Given the description of an element on the screen output the (x, y) to click on. 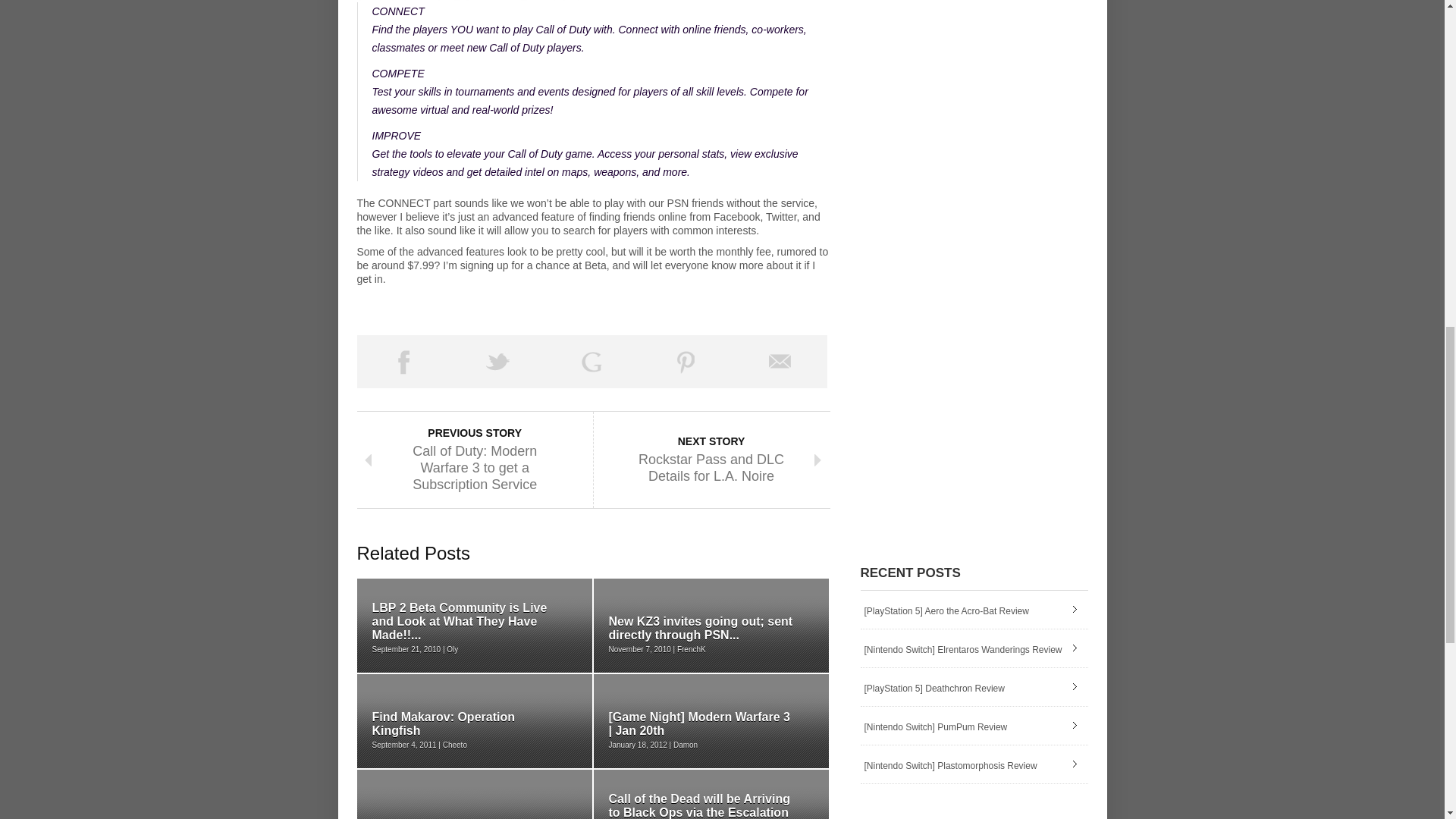
Advertisement (533, 298)
Share on Facebook (402, 361)
Tweet This (497, 361)
